Given the description of an element on the screen output the (x, y) to click on. 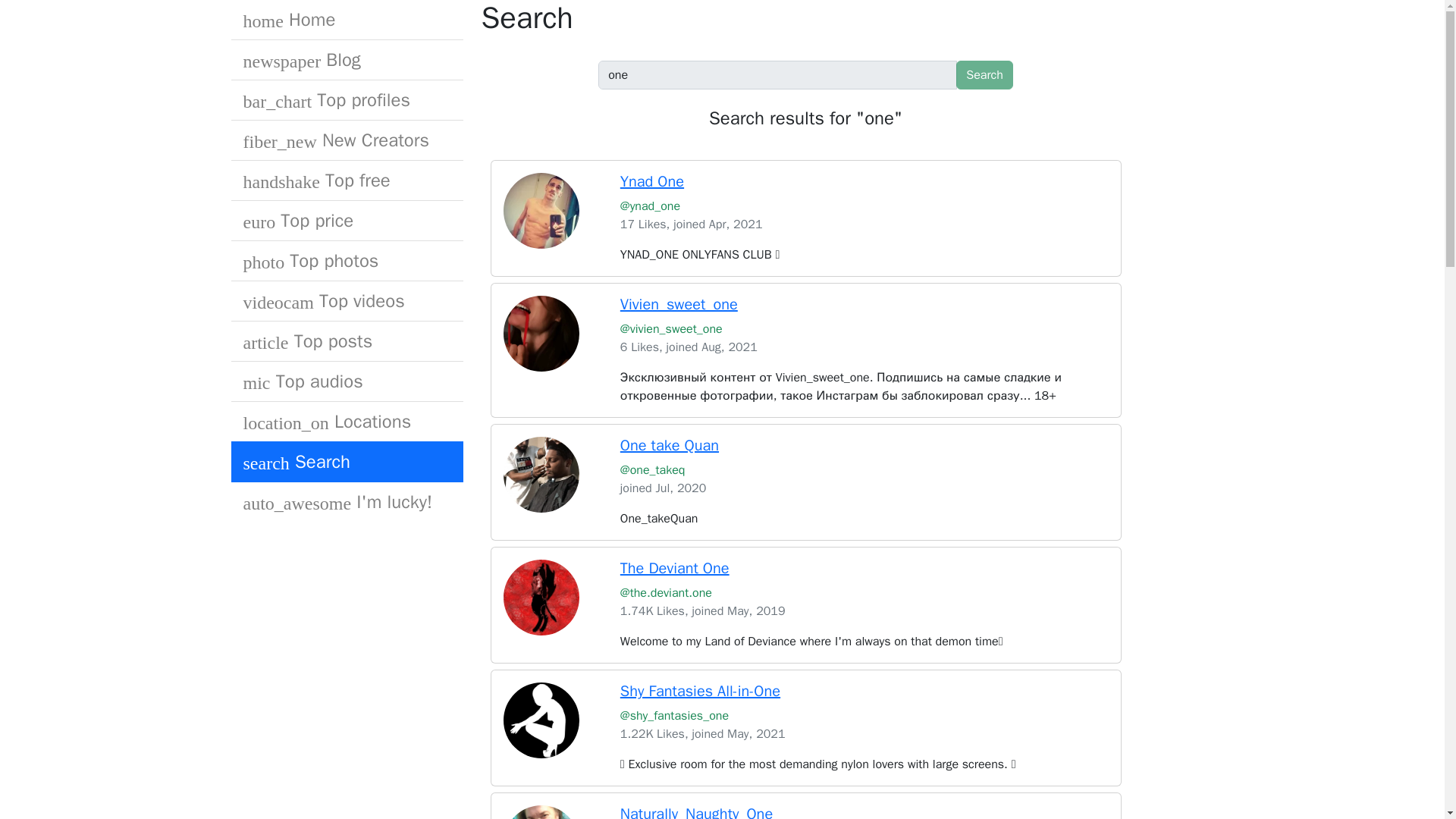
mic Top audios (346, 381)
article Top posts (346, 341)
newspaper Blog (346, 60)
search Search (346, 461)
Search (984, 74)
Ynad One (652, 180)
one (777, 74)
home Home (346, 20)
photo Top photos (346, 260)
One take Quan (669, 445)
